Given the description of an element on the screen output the (x, y) to click on. 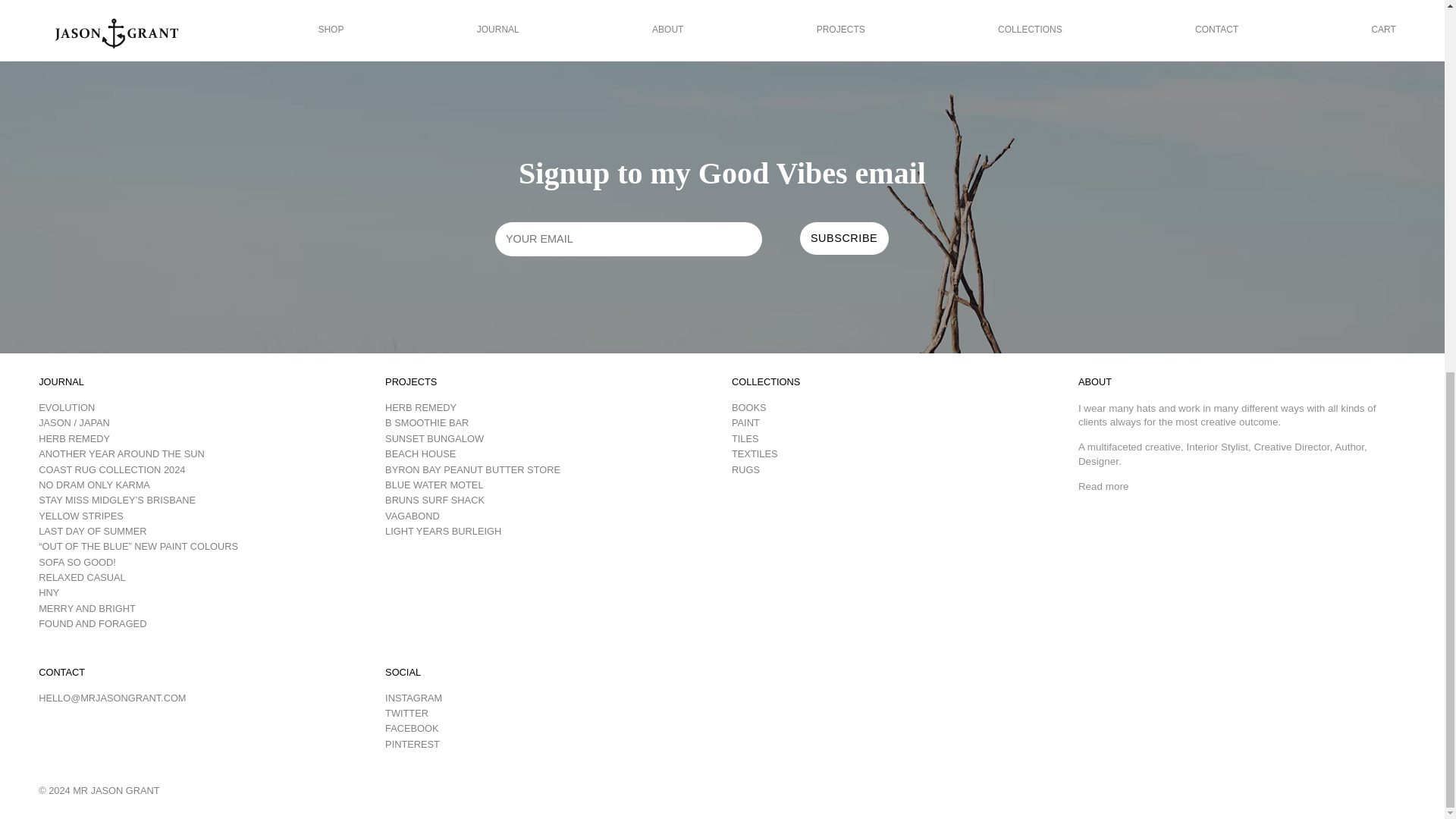
Subscribe (843, 237)
